Given the description of an element on the screen output the (x, y) to click on. 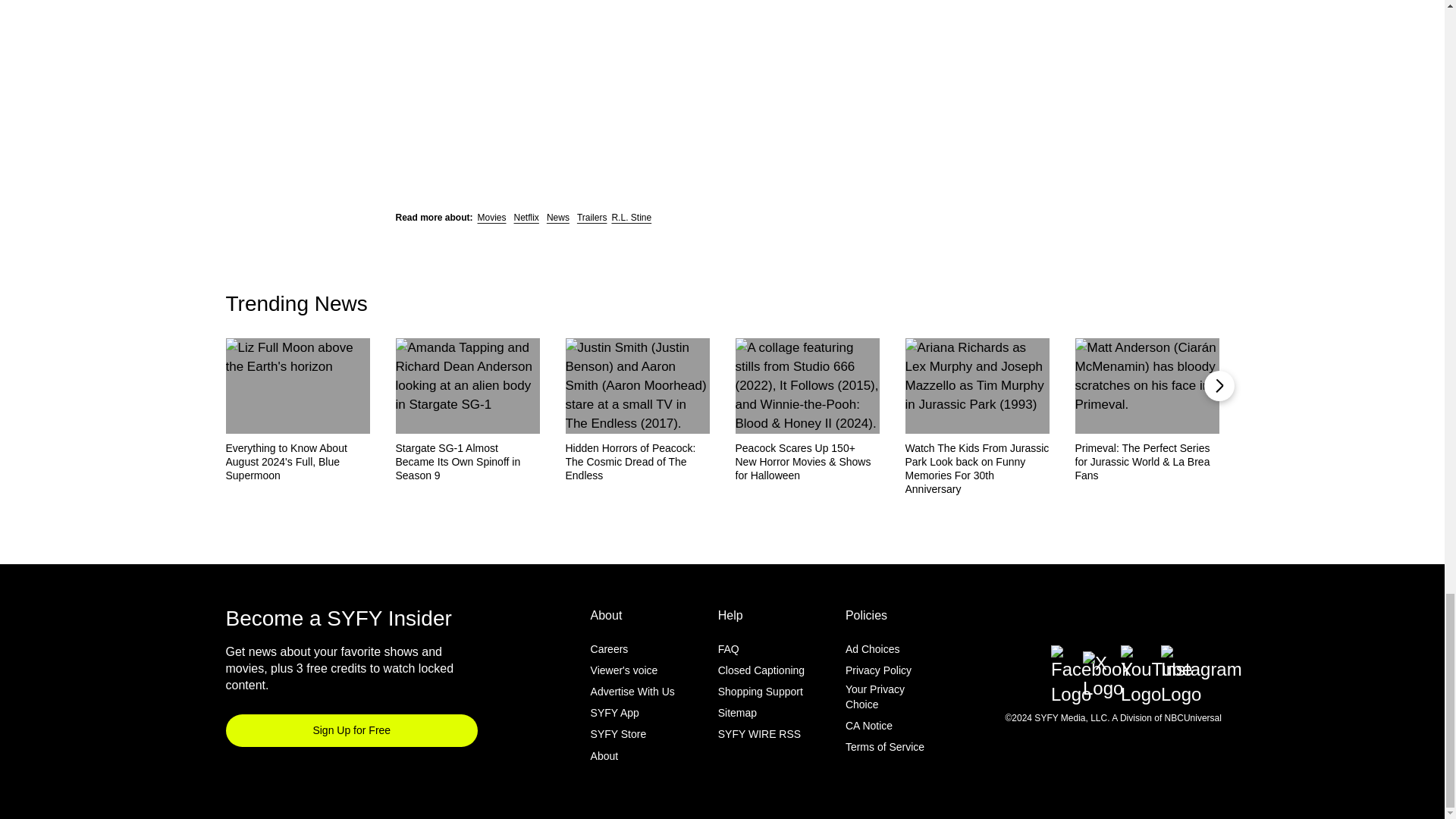
Stargate SG-1 Almost Became Its Own Spinoff in Season 9 (468, 461)
News (558, 217)
Advertise With Us (633, 692)
R.L. Stine (630, 217)
Netflix (525, 217)
Everything to Know About August 2024's Full, Blue Supermoon (297, 461)
Trailers (591, 217)
Movies (491, 217)
